Given the description of an element on the screen output the (x, y) to click on. 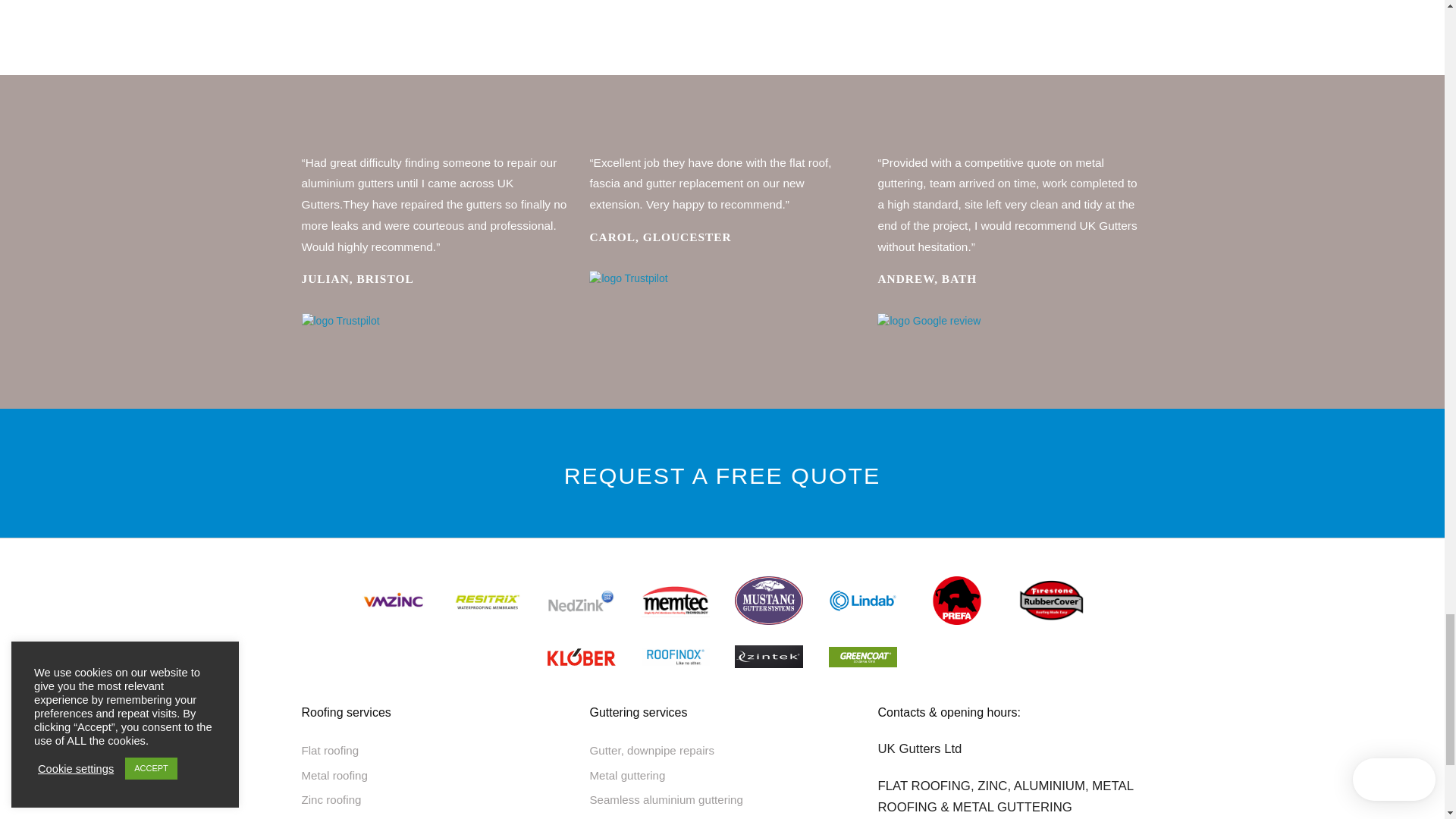
Gutter, downpipe repairs (721, 750)
Flat roofing (434, 750)
REQUEST A FREE QUOTE (722, 475)
Metal roofing (434, 775)
Metal guttering (721, 775)
Aluminium roofing (434, 815)
Seamless aluminium guttering (721, 799)
Zinc roofing (434, 799)
